Given the description of an element on the screen output the (x, y) to click on. 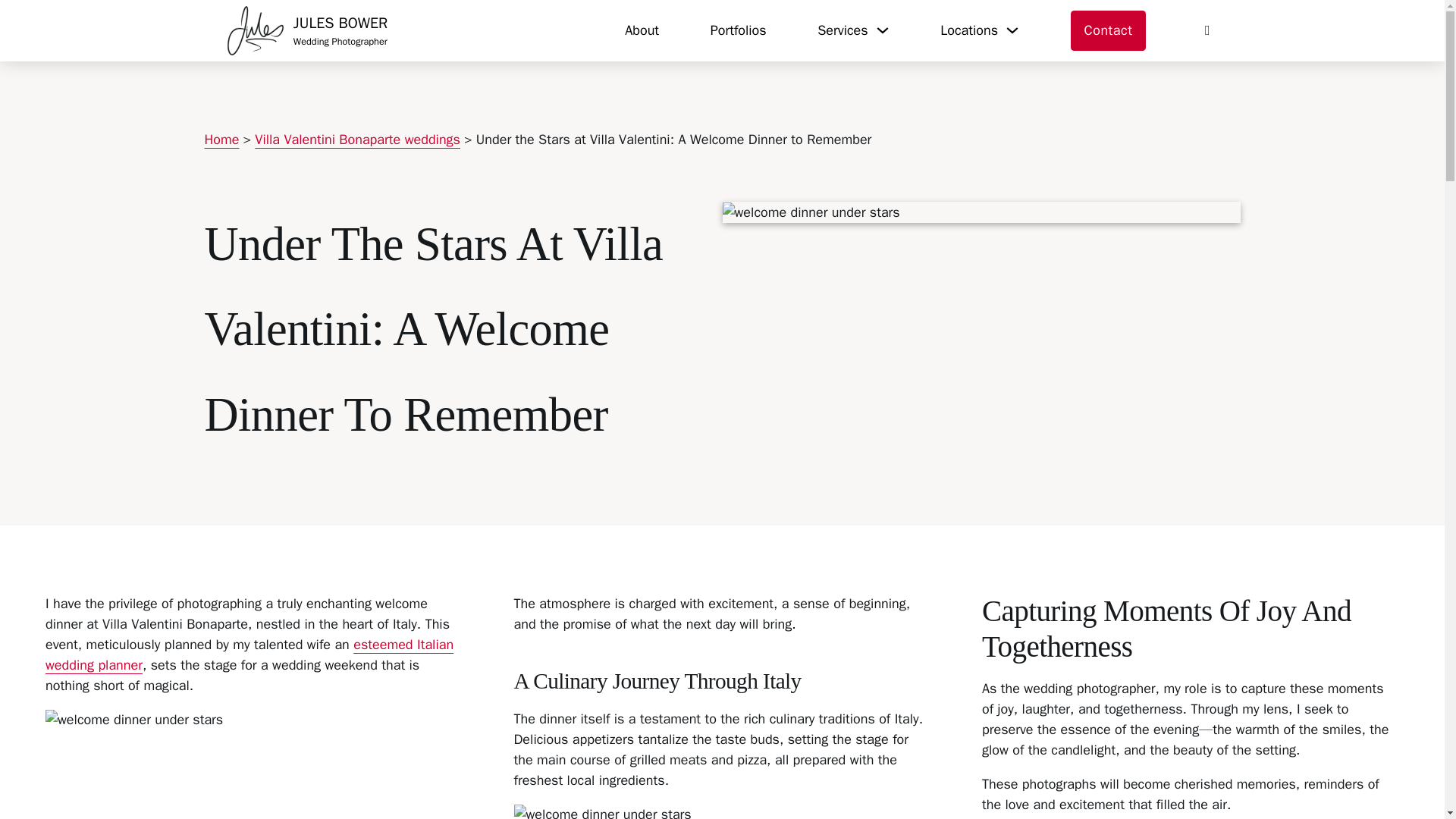
Home (222, 139)
About (641, 30)
Villa Valentini Bonaparte weddings (307, 30)
esteemed Italian wedding planner (357, 139)
Portfolios (248, 654)
Search (738, 30)
